Given the description of an element on the screen output the (x, y) to click on. 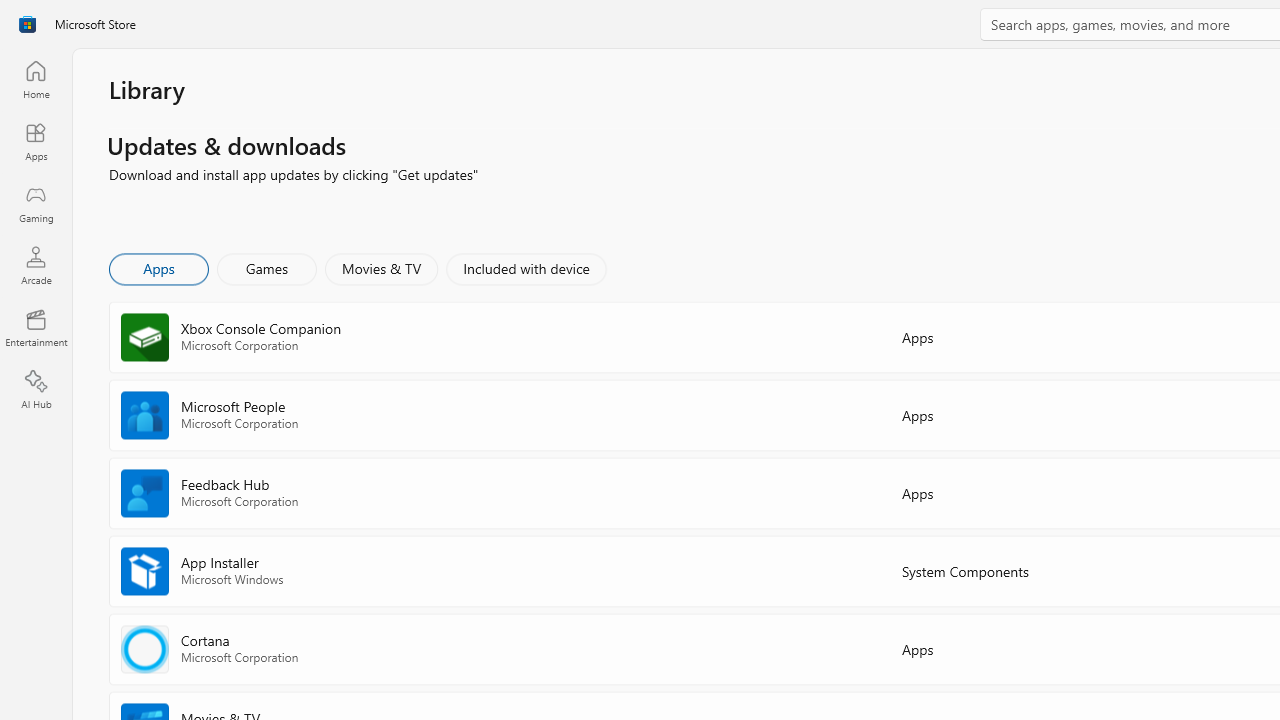
Games (267, 268)
Movies & TV (381, 268)
Included with device (525, 268)
